Given the description of an element on the screen output the (x, y) to click on. 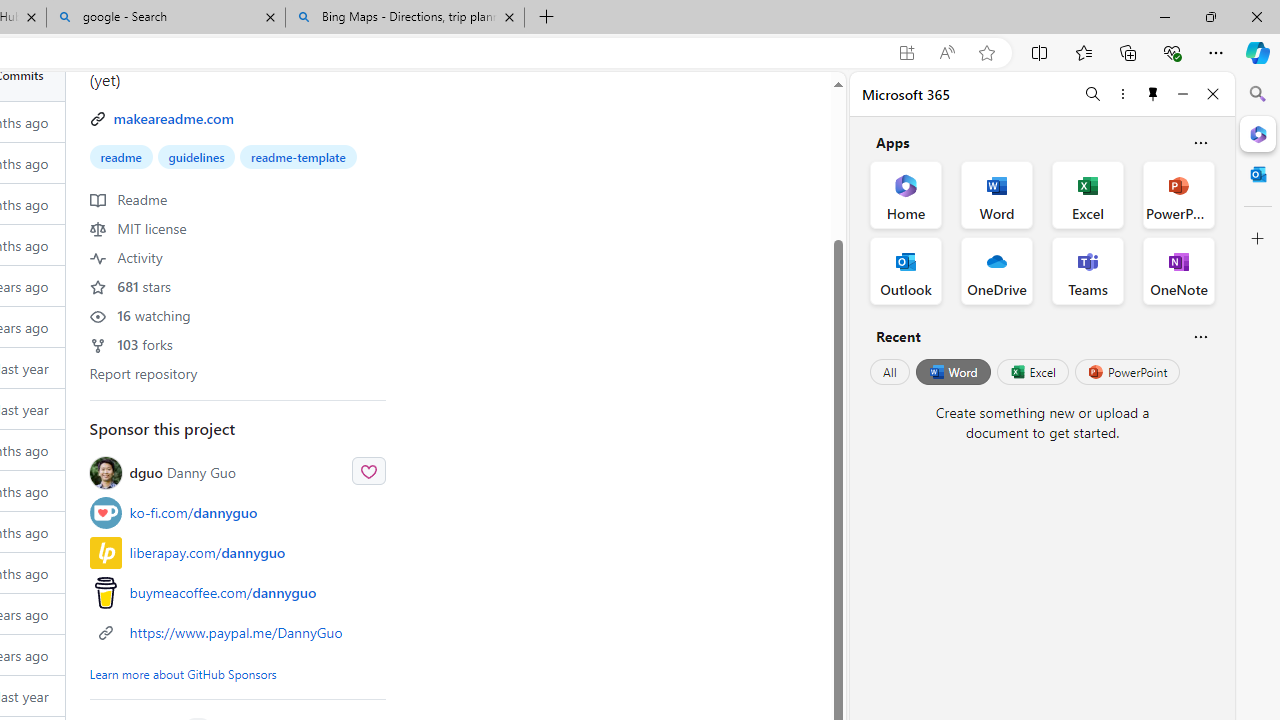
Close tab (509, 16)
readme-template (298, 156)
Collections (1128, 52)
ko_fi (105, 512)
Home Office App (906, 194)
More options (1122, 93)
Excel Office App (1087, 194)
readme (121, 156)
https://www.paypal.me/DannyGuo (237, 632)
Favorites (1083, 52)
https://www.paypal.me/DannyGuo (236, 632)
OneNote Office App (1178, 270)
Report repository (143, 372)
Restore (1210, 16)
Word Office App (996, 194)
